Given the description of an element on the screen output the (x, y) to click on. 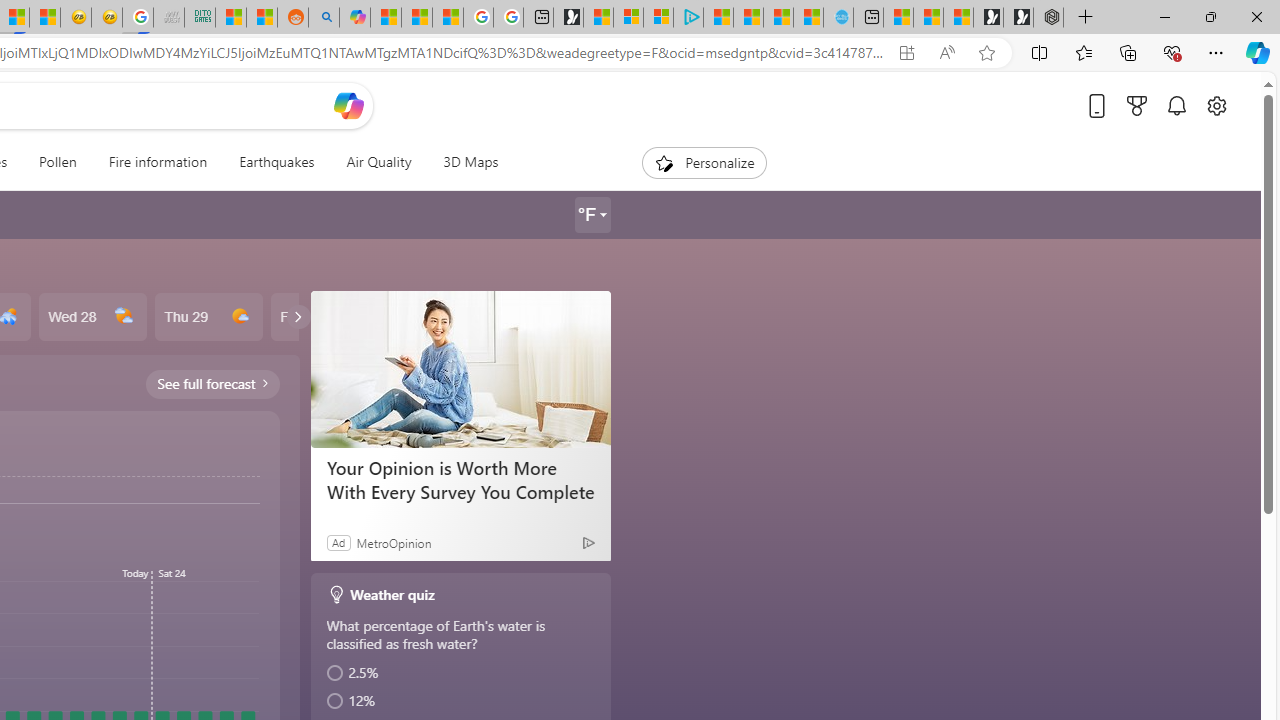
Personalize (703, 162)
New tab (868, 17)
Microsoft rewards (1137, 105)
Home | Sky Blue Bikes - Sky Blue Bikes (838, 17)
Microsoft Copilot in Bing (354, 17)
Pollen (58, 162)
Fri 30 (324, 317)
See full forecast (212, 383)
Play Free Online Games | Games from Microsoft Start (1017, 17)
